Given the description of an element on the screen output the (x, y) to click on. 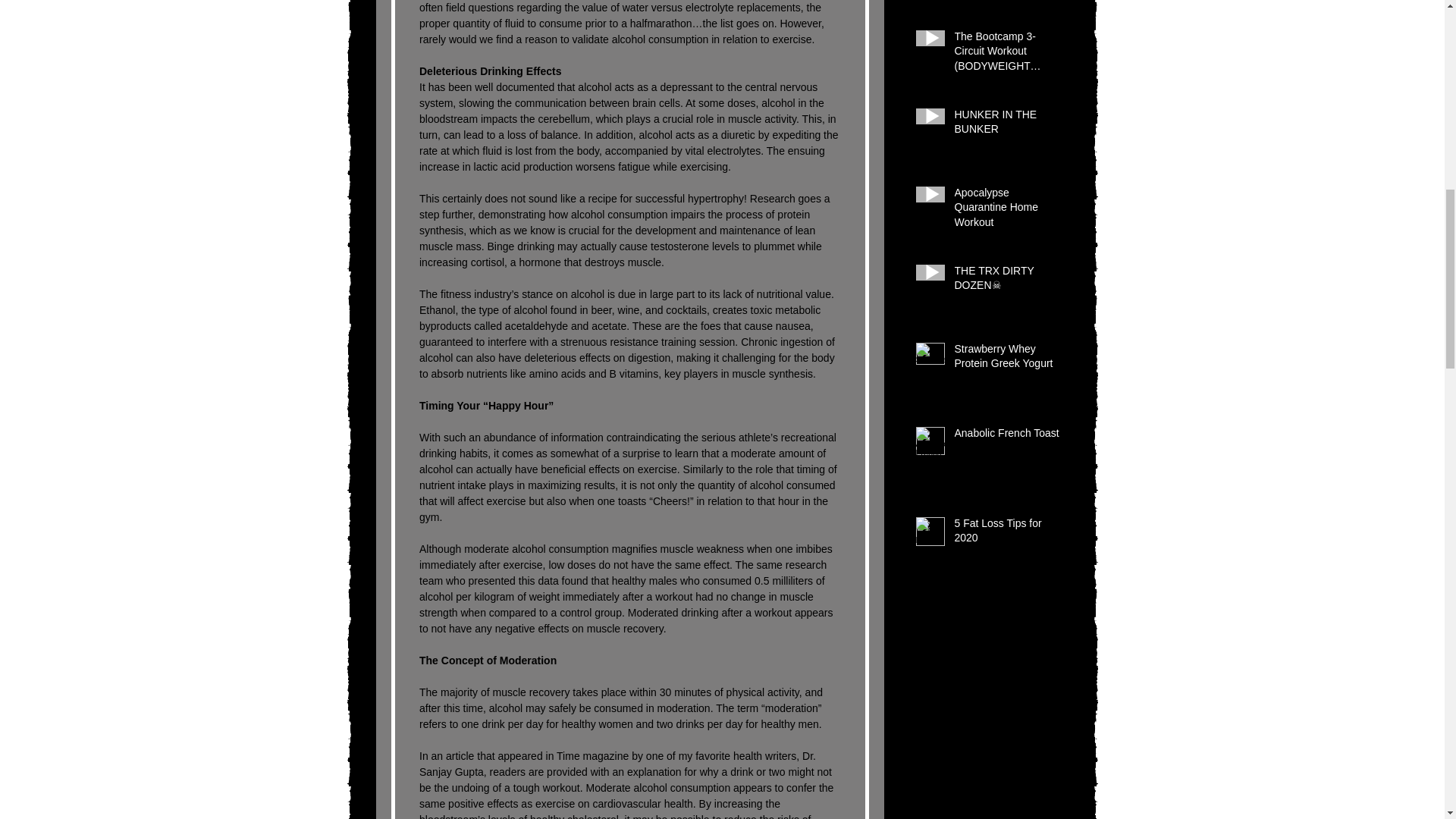
Anabolic French Toast (1007, 436)
Strawberry Whey Protein Greek Yogurt (1007, 359)
HUNKER IN THE BUNKER (1007, 125)
5 Fat Loss Tips for 2020 (1007, 534)
Apocalypse Quarantine Home Workout (1007, 210)
